Given the description of an element on the screen output the (x, y) to click on. 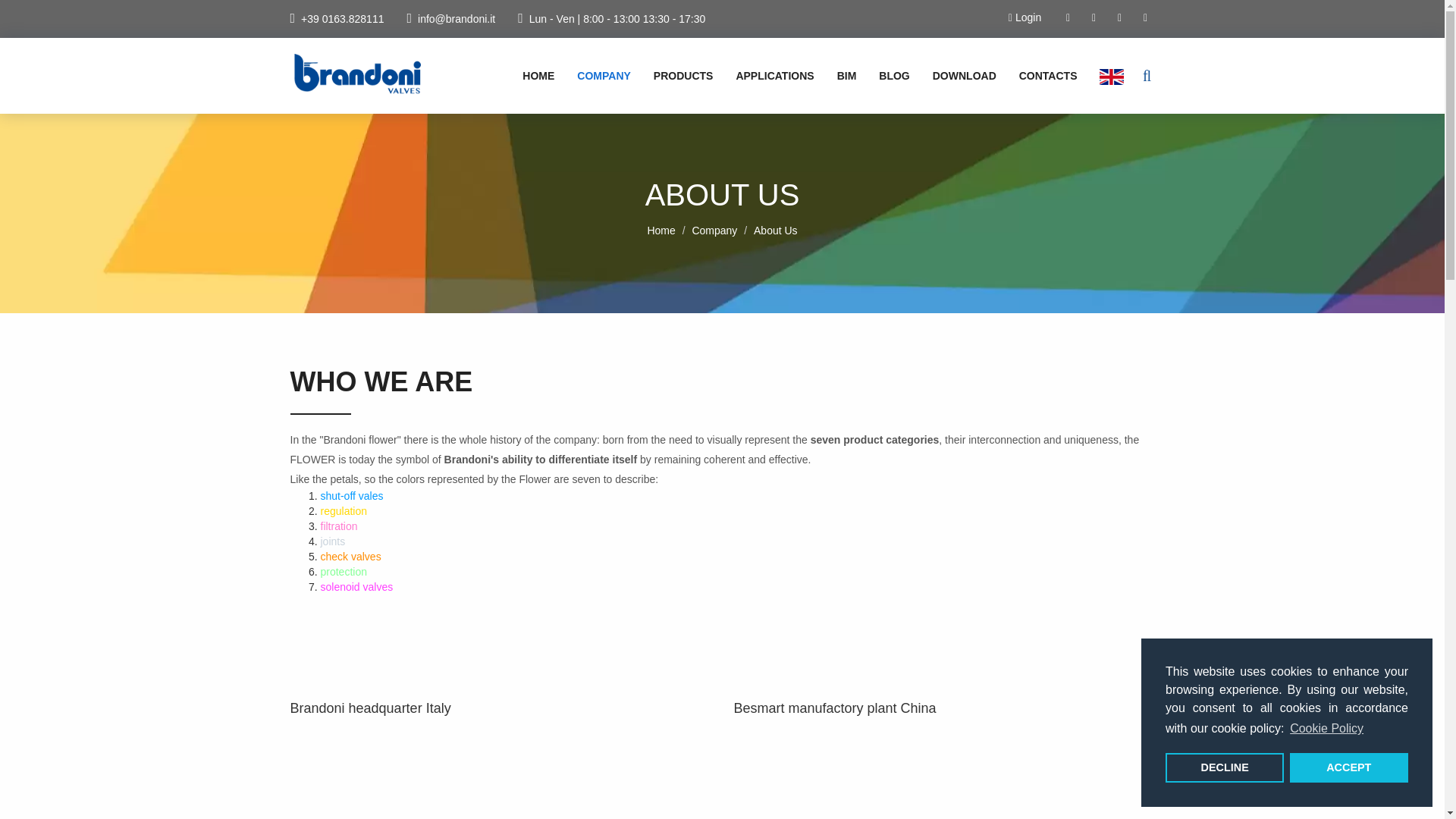
Cookie Policy (1326, 728)
About us (651, 128)
applications (763, 75)
ACCEPT (1348, 767)
water (834, 128)
Shut-off Valves (733, 128)
company (592, 75)
ABOUT US (651, 128)
SHUT-OFF VALVES (733, 128)
DECLINE (1225, 767)
products (671, 75)
APPLICATIONS (763, 75)
WATER (834, 128)
PRODUCTS (671, 75)
COMPANY (592, 75)
